Given the description of an element on the screen output the (x, y) to click on. 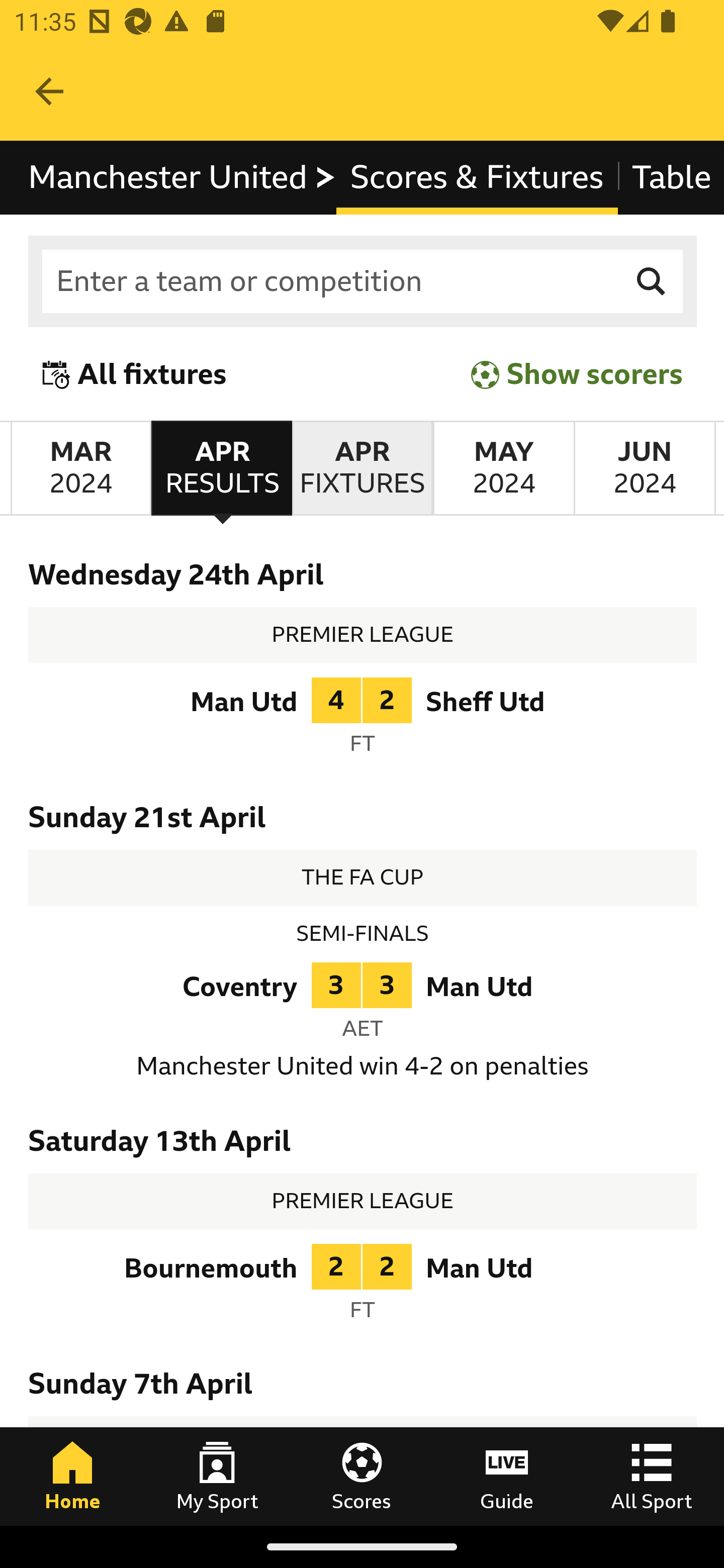
Navigate up (49, 91)
Manchester United  (183, 177)
Scores & Fixtures (476, 177)
Table (670, 177)
Search (651, 282)
All fixtures (134, 374)
Show scorers (576, 374)
March2024 March 2024 (80, 468)
AprilRESULTS, Selected April RESULTS , Selected (221, 468)
AprilFIXTURES April FIXTURES (361, 468)
May2024 May 2024 (502, 468)
June2024 June 2024 (644, 468)
My Sport (216, 1475)
Scores (361, 1475)
Guide (506, 1475)
All Sport (651, 1475)
